Given the description of an element on the screen output the (x, y) to click on. 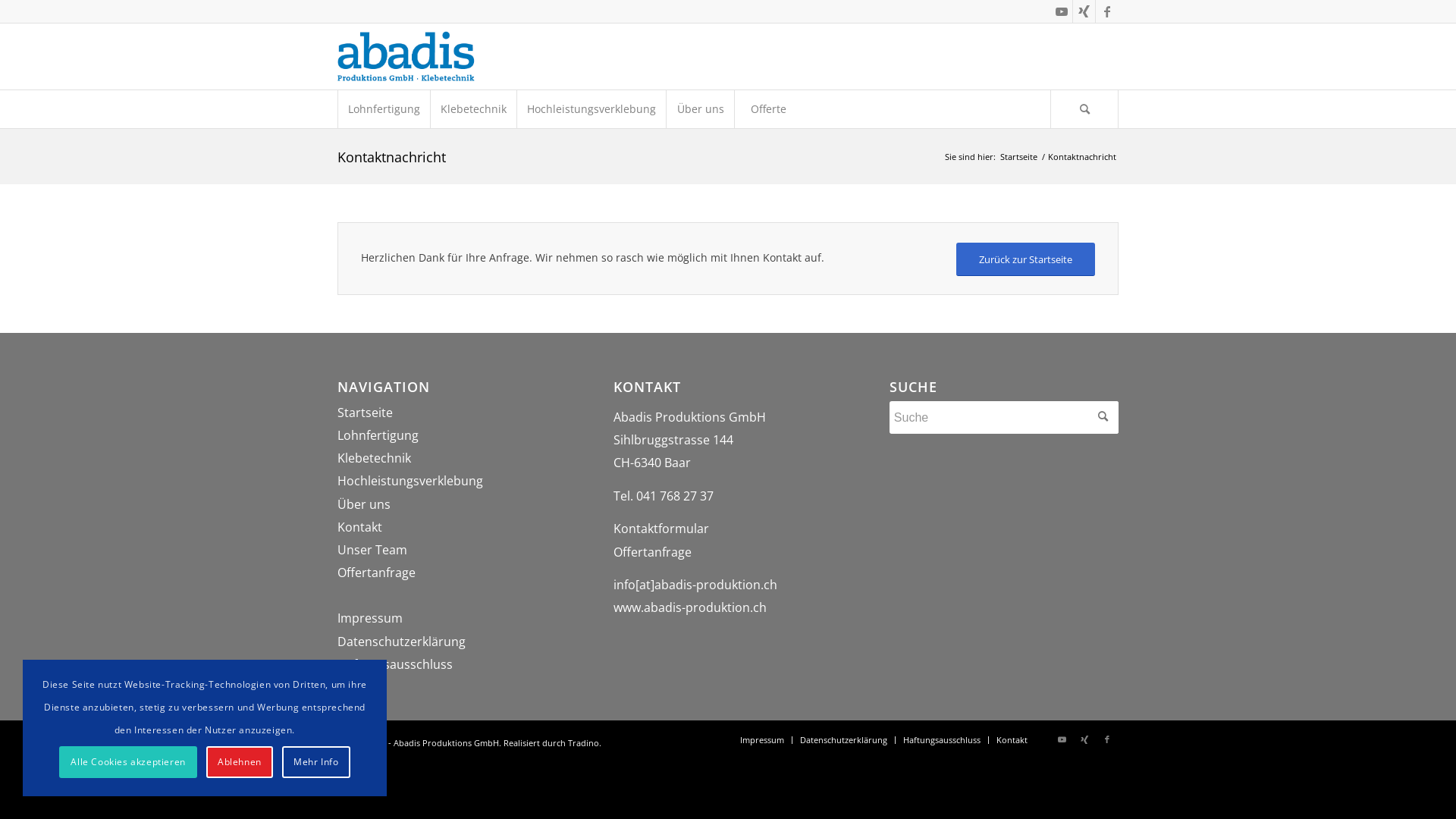
Unser Team Element type: text (372, 549)
Alle Cookies akzeptieren Element type: text (128, 762)
Impressum Element type: text (762, 739)
Offertanfrage Element type: text (652, 551)
www.abadis-produktion.ch Element type: text (689, 607)
Facebook Element type: hover (1106, 11)
Impressum Element type: text (369, 617)
Youtube Element type: hover (1061, 739)
Tradino Element type: text (583, 742)
Ablehnen Element type: text (239, 762)
Kontakt Element type: text (359, 526)
Mehr Info Element type: text (316, 762)
Kontakt Element type: text (1011, 739)
Offertanfrage Element type: text (376, 572)
Abadis Produktions GmbH Element type: hover (406, 55)
Hochleistungsverklebung Element type: text (590, 109)
Facebook Element type: hover (1106, 739)
Kontaktformular Element type: text (661, 528)
Lohnfertigung Element type: text (383, 109)
Lohnfertigung Element type: text (377, 434)
Haftungsausschluss Element type: text (394, 663)
Startseite Element type: text (1018, 156)
Youtube Element type: hover (1061, 11)
Offerte Element type: text (768, 109)
Klebetechnik Element type: text (472, 109)
Xing Element type: hover (1084, 739)
Kontaktnachricht Element type: text (391, 156)
Xing Element type: hover (1084, 11)
info[at]abadis-produktion.ch Element type: text (695, 584)
Hochleistungsverklebung Element type: text (410, 480)
Haftungsausschluss Element type: text (941, 739)
Klebetechnik Element type: text (374, 457)
Startseite Element type: text (364, 412)
